Given the description of an element on the screen output the (x, y) to click on. 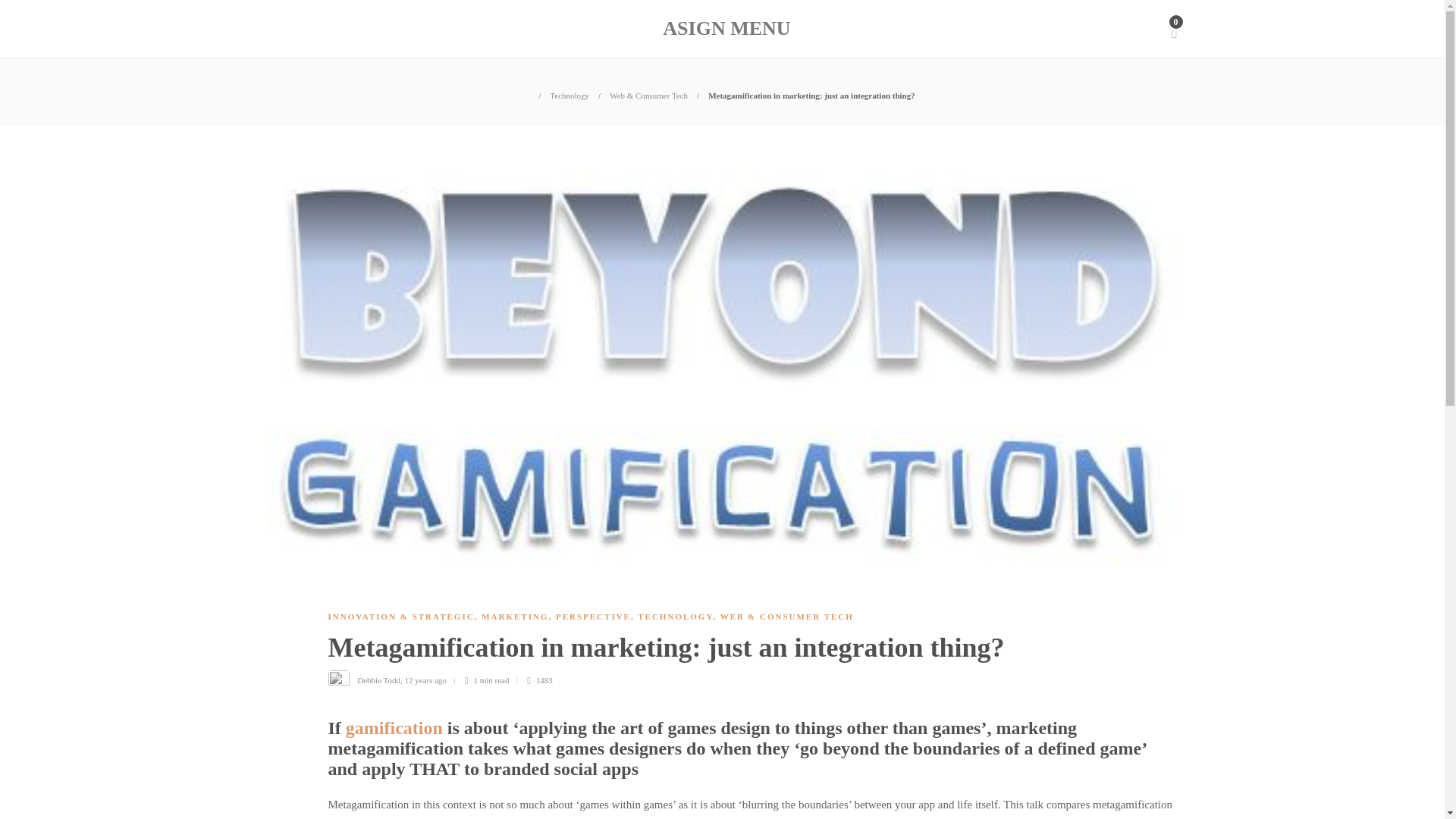
Gamification (394, 727)
Technology (569, 94)
Metagamification in marketing: just an integration thing? (811, 94)
PERSPECTIVE (593, 615)
Metagamification in marketing: just an integration thing?  (740, 651)
12 years ago (425, 679)
0 (1173, 28)
gamification (394, 727)
TECHNOLOGY (675, 615)
MARKETING (514, 615)
ASIGN MENU (726, 28)
Debbie Todd (378, 679)
